Given the description of an element on the screen output the (x, y) to click on. 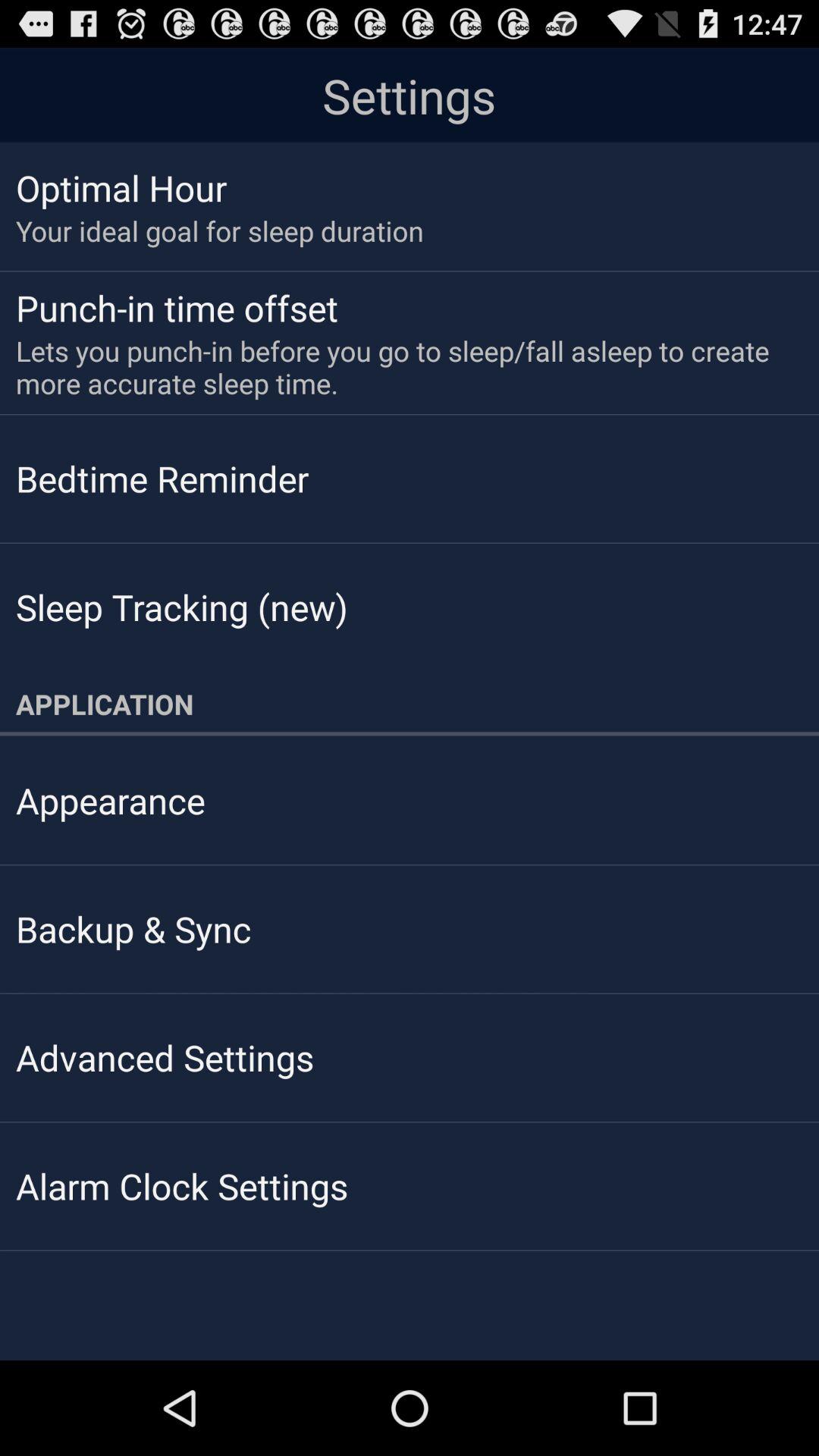
launch advanced settings (164, 1057)
